Given the description of an element on the screen output the (x, y) to click on. 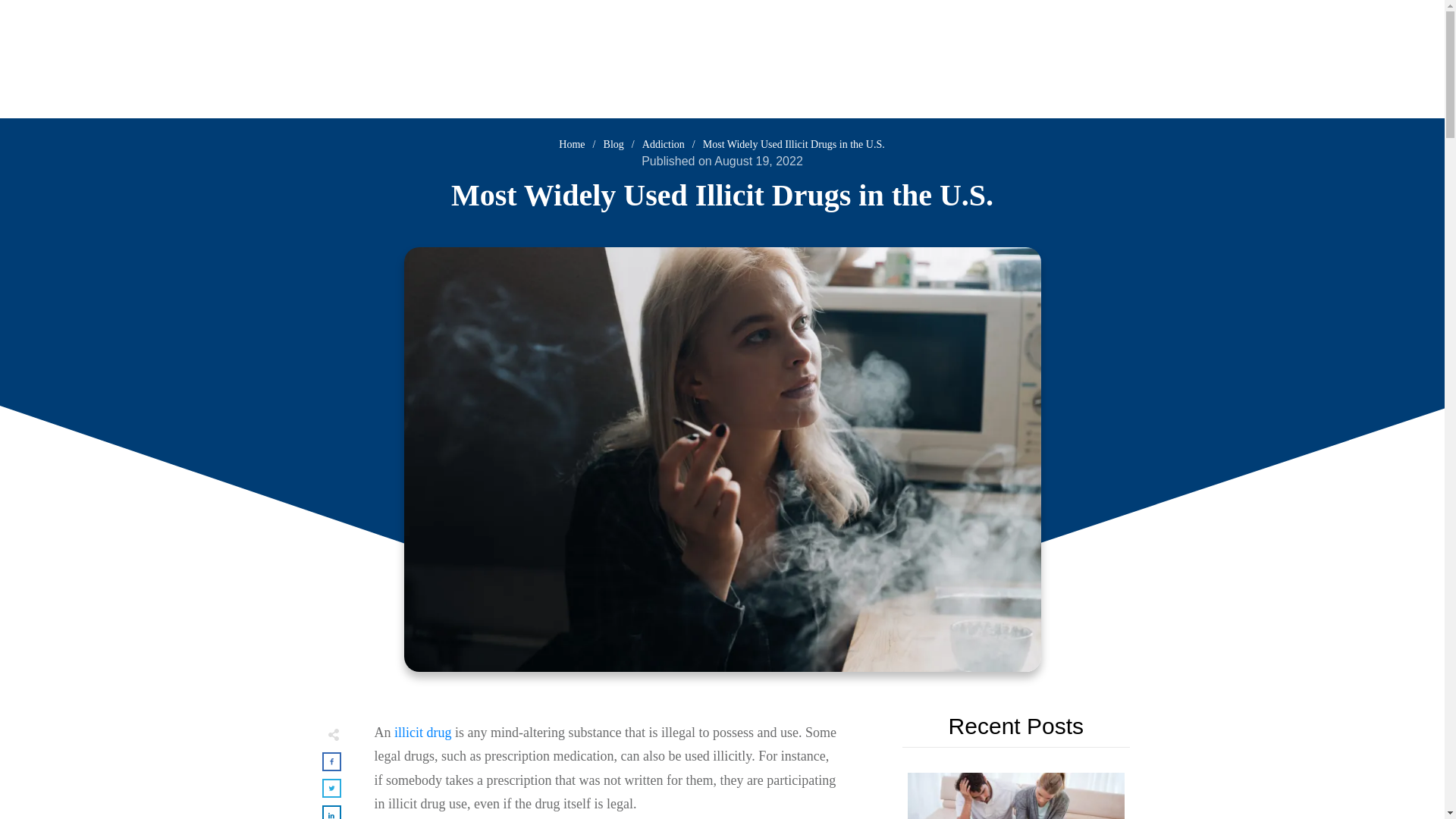
Addiction (663, 143)
Home (572, 143)
Blog (614, 143)
illicit drug (422, 732)
